Given the description of an element on the screen output the (x, y) to click on. 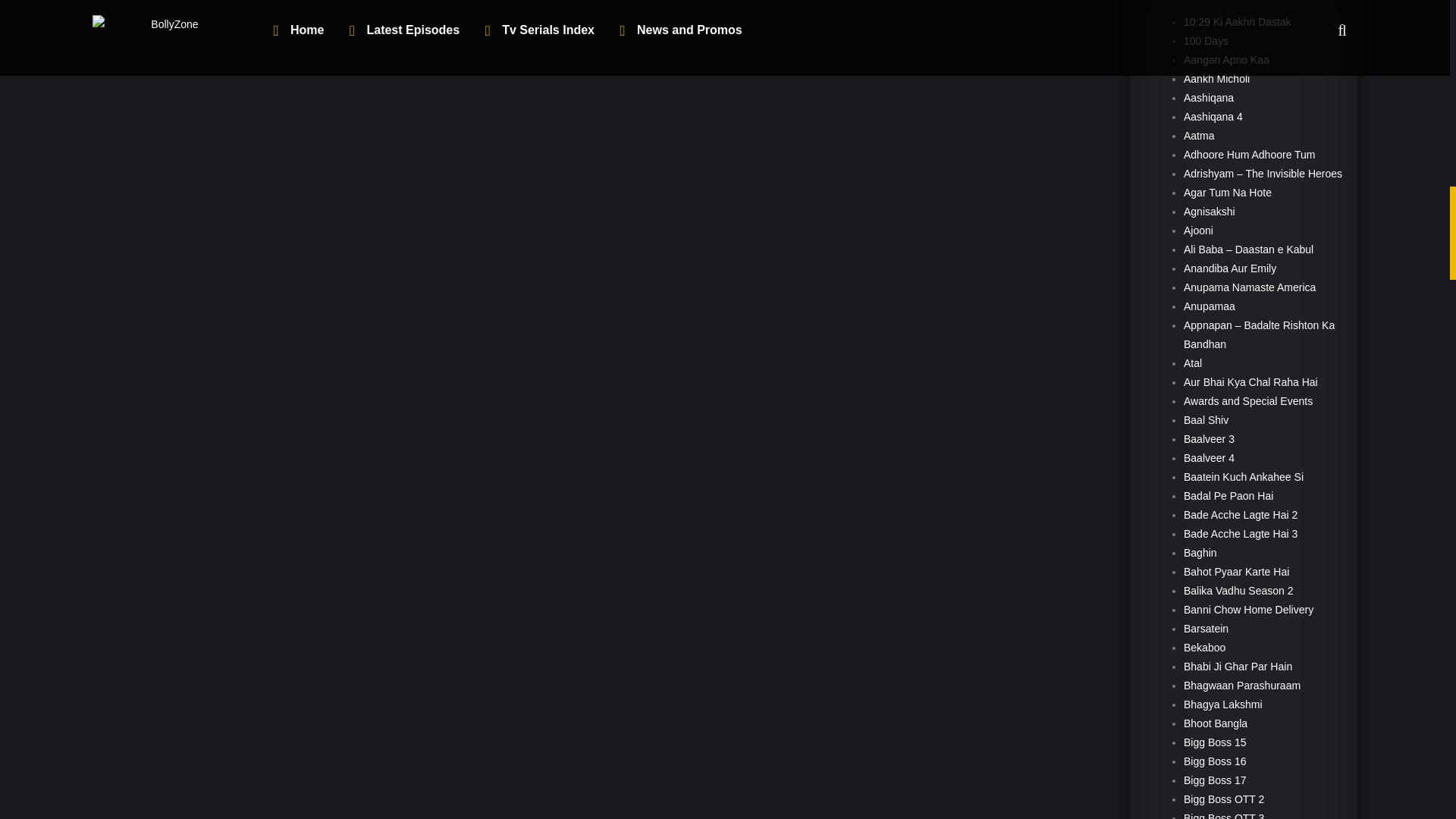
100 Days (1205, 40)
Aankh Micholi (1216, 78)
Aatma (1198, 135)
10:29 Ki Aakhri Dastak (1237, 21)
Aashiqana (1208, 97)
Aangan Apno Kaa (1226, 60)
Adhoore Hum Adhoore Tum (1249, 154)
Aashiqana 4 (1213, 116)
